Given the description of an element on the screen output the (x, y) to click on. 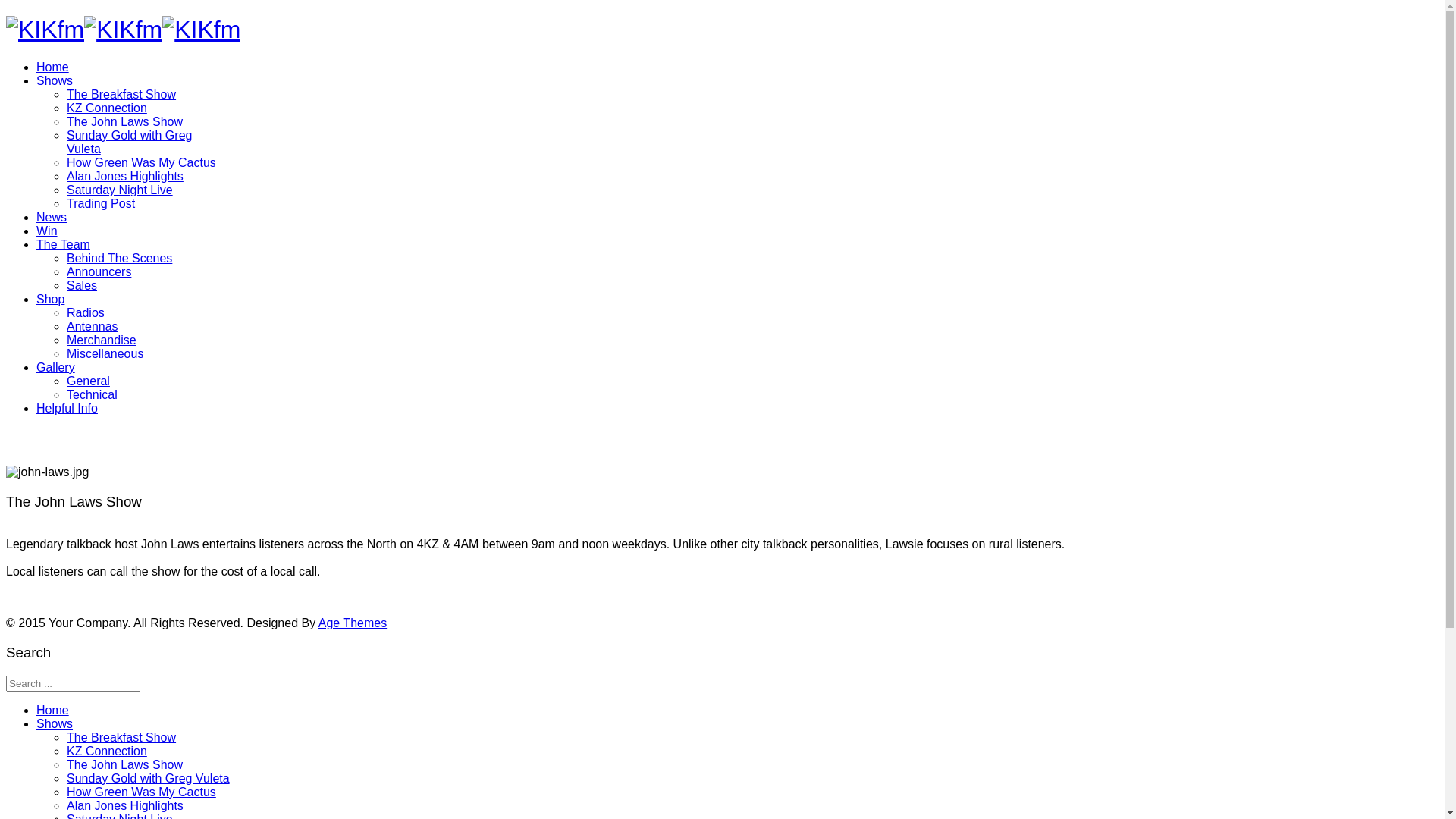
The Team Element type: text (63, 244)
The John Laws Show Element type: text (124, 121)
Gallery Element type: text (55, 366)
Alan Jones Highlights Element type: text (124, 805)
Sunday Gold with Greg Vuleta Element type: text (128, 141)
How Green Was My Cactus Element type: text (141, 162)
Sunday Gold with Greg Vuleta Element type: text (147, 777)
Behind The Scenes Element type: text (119, 257)
Miscellaneous Element type: text (104, 353)
The Breakfast Show Element type: text (120, 93)
Age Themes Element type: text (352, 622)
Home Element type: text (52, 709)
News Element type: text (51, 216)
Alan Jones Highlights Element type: text (124, 175)
Win Element type: text (46, 230)
Shop Element type: text (50, 298)
Home Element type: text (52, 66)
Trading Post Element type: text (100, 203)
Radios Element type: text (85, 312)
Antennas Element type: text (92, 326)
Shows Element type: text (54, 723)
The Breakfast Show Element type: text (120, 737)
Sales Element type: text (81, 285)
KZ Connection Element type: text (106, 750)
Merchandise Element type: text (101, 339)
Helpful Info Element type: text (66, 407)
The John Laws Show Element type: text (124, 764)
KZ Connection Element type: text (106, 107)
General Element type: text (87, 380)
Shows Element type: text (54, 80)
How Green Was My Cactus Element type: text (141, 791)
Saturday Night Live Element type: text (119, 189)
Announcers Element type: text (98, 271)
Technical Element type: text (91, 394)
